Given the description of an element on the screen output the (x, y) to click on. 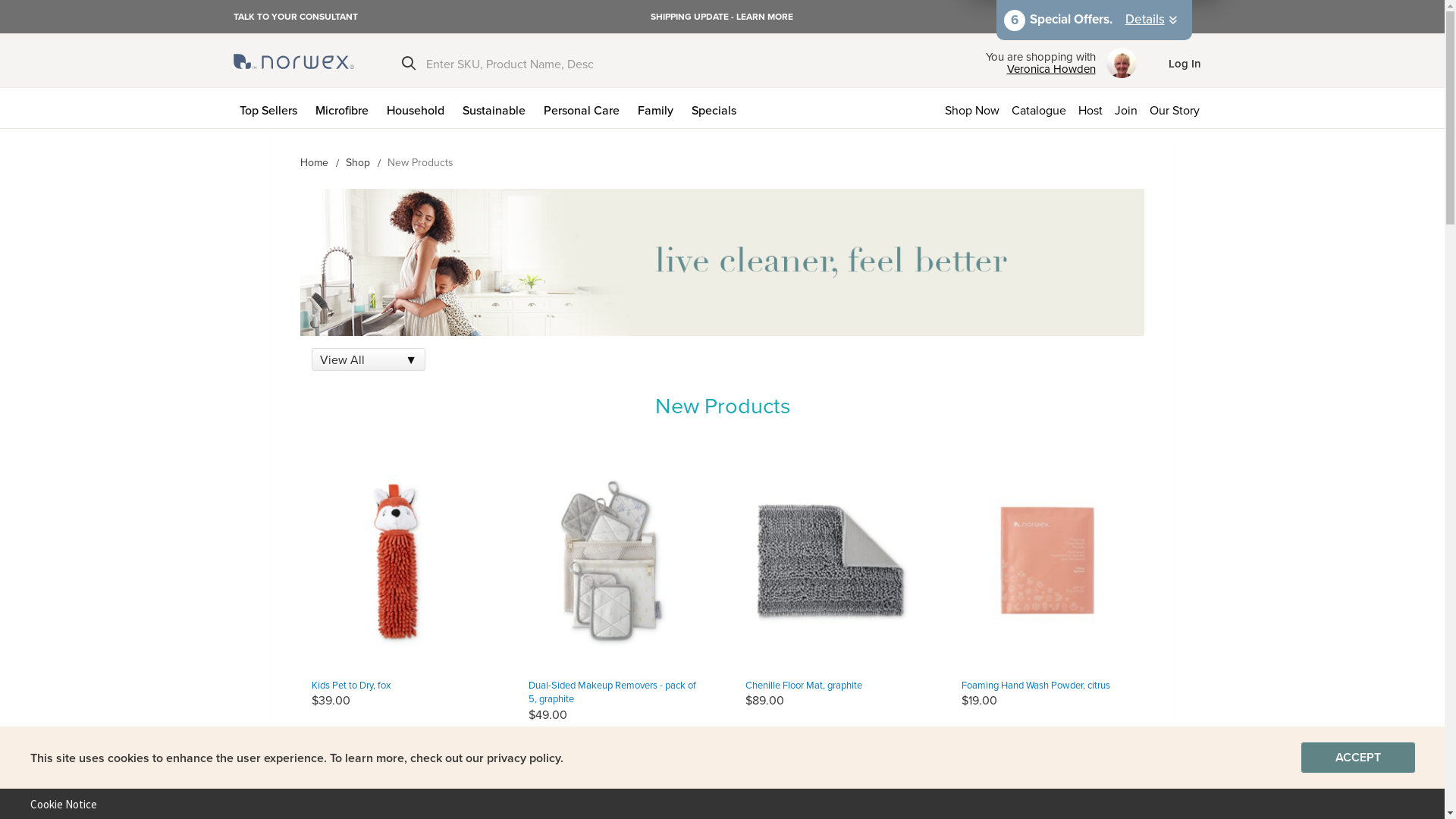
Chenille Floor Mat, graphite Element type: hover (830, 560)
Join Element type: text (1125, 107)
Microfibre Element type: text (344, 107)
Shop Element type: text (357, 162)
Foaming Hand Wash Powder, citrus Element type: text (1035, 684)
Household Element type: text (418, 107)
Personal Care Element type: text (583, 107)
ACCEPT Element type: text (1357, 757)
Shop Now Element type: text (971, 107)
Cookie Notice Element type: text (57, 803)
Kids Pet to Dry, fox Element type: text (350, 684)
Catalogue Element type: text (1038, 107)
New Products Element type: hover (722, 261)
Host Element type: text (1090, 107)
Dual-Sided Makeup Removers - pack of 5, graphite Element type: text (612, 691)
Specials Element type: text (716, 107)
SHIPPING UPDATE - LEARN MORE Element type: text (721, 16)
Chenille Floor Mat, graphite Element type: text (802, 684)
Kids Pet to Dry, fox Element type: hover (396, 560)
Top Sellers Element type: text (271, 107)
Family Element type: text (657, 107)
Veronica Howden Element type: text (1040, 68)
Home Element type: text (314, 162)
Our Story Element type: text (1177, 107)
Sustainable Element type: text (496, 107)
Dual-Sided Makeup Removers - pack of 5, graphite Element type: hover (613, 560)
Foaming Hand Wash Powder, citrus Element type: hover (1047, 560)
